Given the description of an element on the screen output the (x, y) to click on. 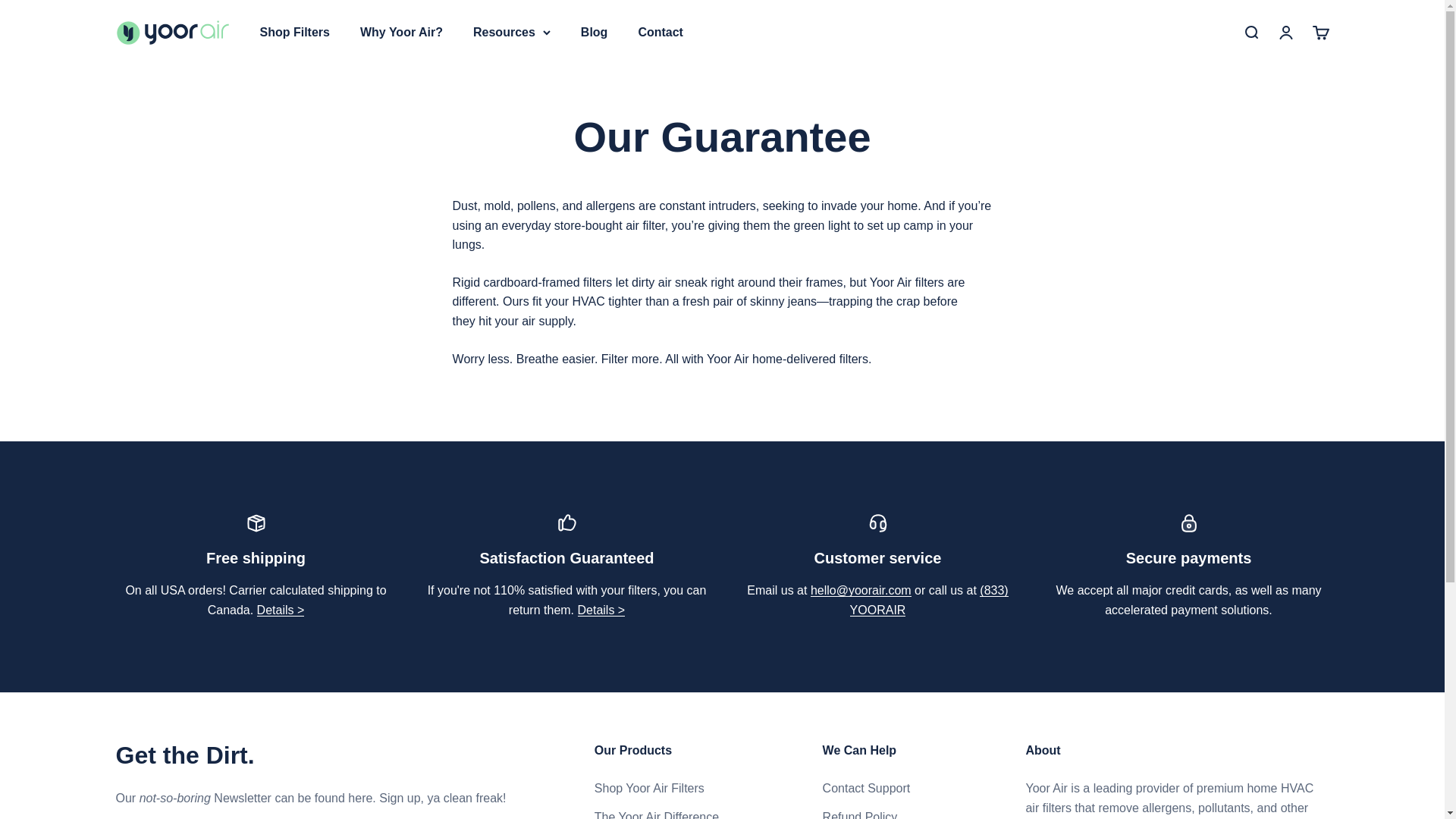
Yoor Air (171, 32)
Refund Policy (602, 609)
Blog (594, 31)
Contact (659, 31)
Open cart (1319, 32)
Call Us (929, 599)
Shop Filters (294, 31)
Open search (1250, 32)
Open account page (1285, 32)
Why Yoor Air? (400, 31)
